Given the description of an element on the screen output the (x, y) to click on. 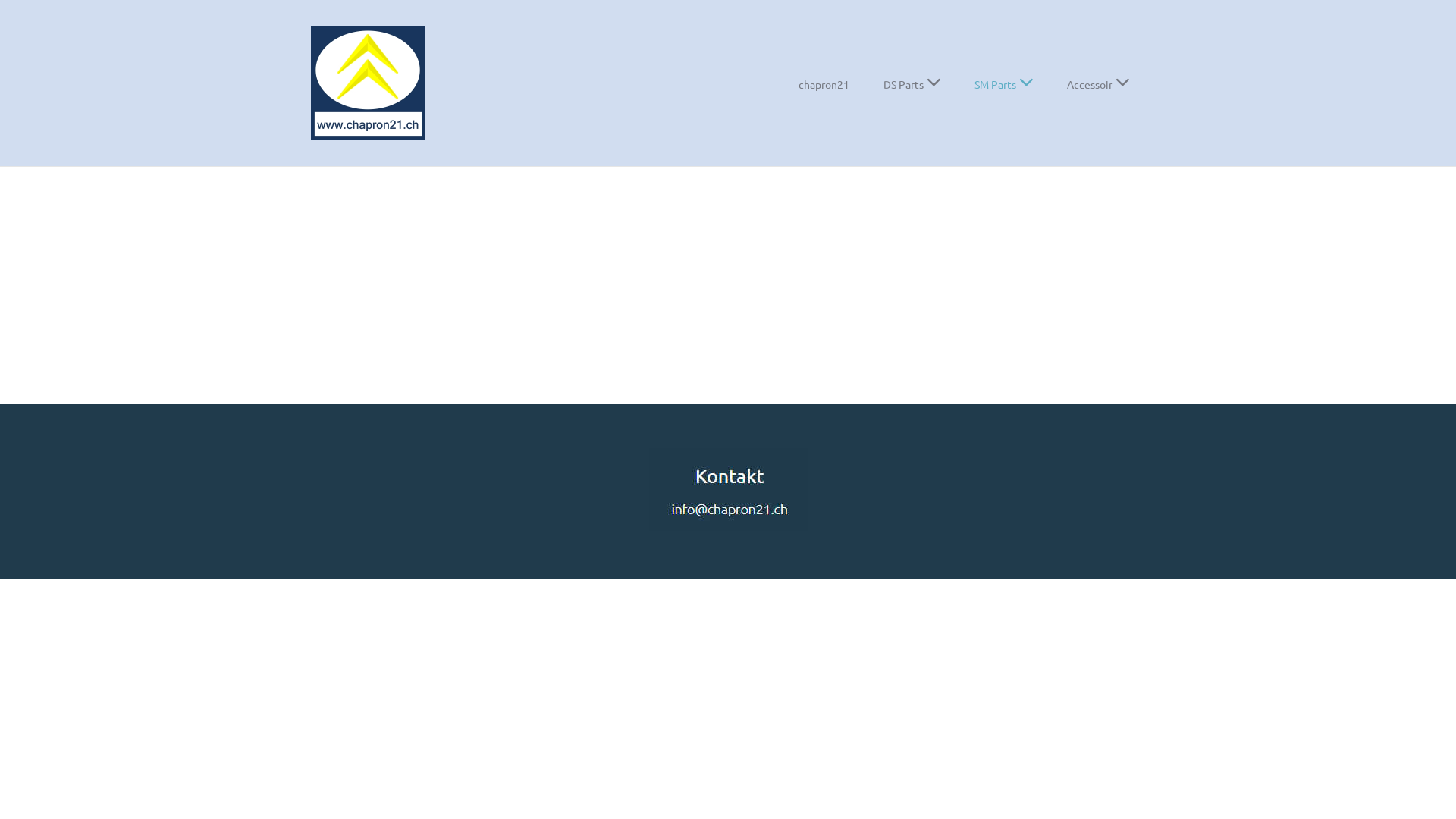
chapron21 Element type: text (823, 84)
chapron21 Element type: hover (367, 82)
